Given the description of an element on the screen output the (x, y) to click on. 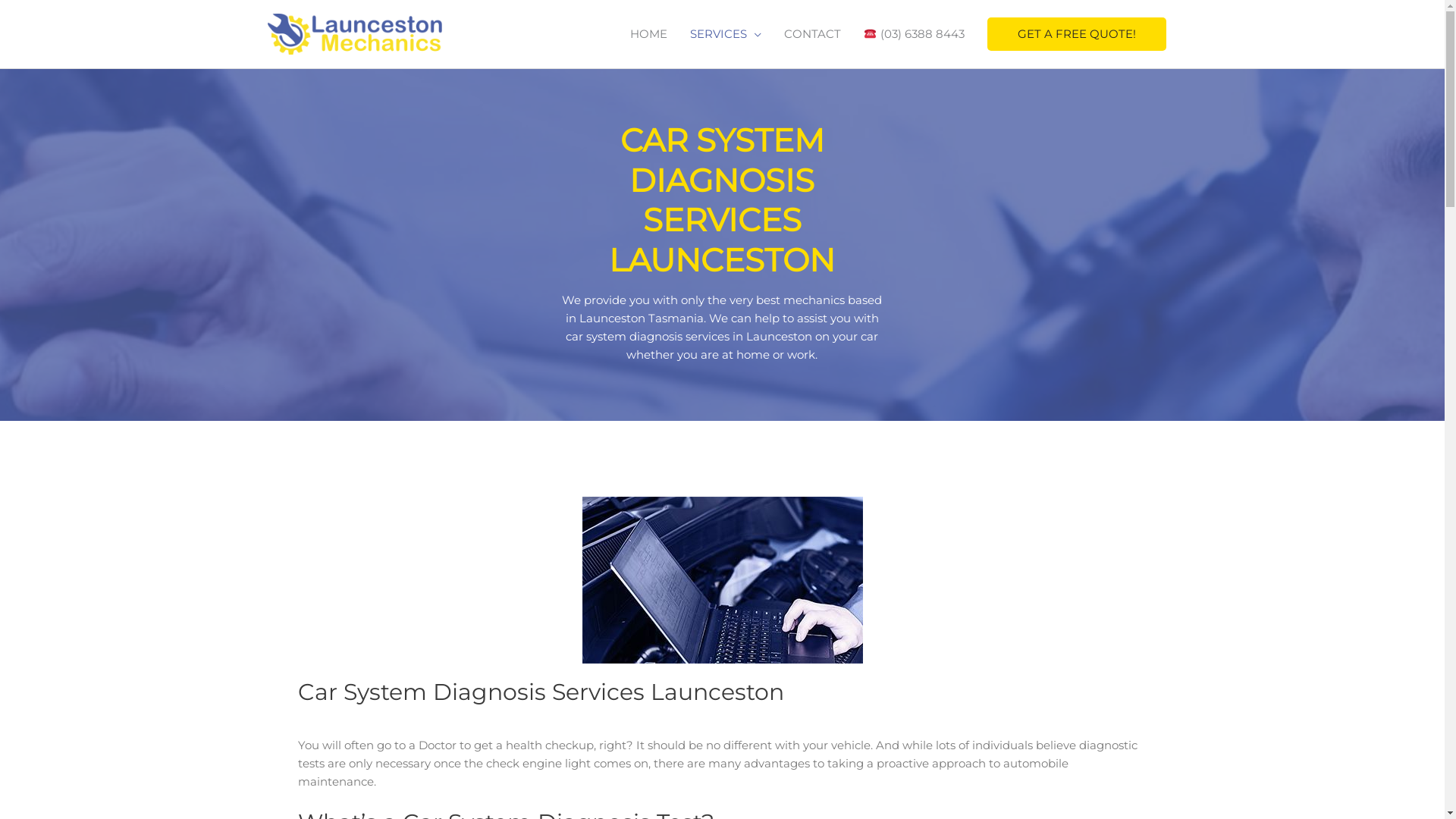
GET A FREE QUOTE! Element type: text (1076, 33)
CONTACT Element type: text (812, 33)
HOME Element type: text (648, 33)
(03) 6388 8443 Element type: text (913, 33)
SERVICES Element type: text (725, 33)
